Given the description of an element on the screen output the (x, y) to click on. 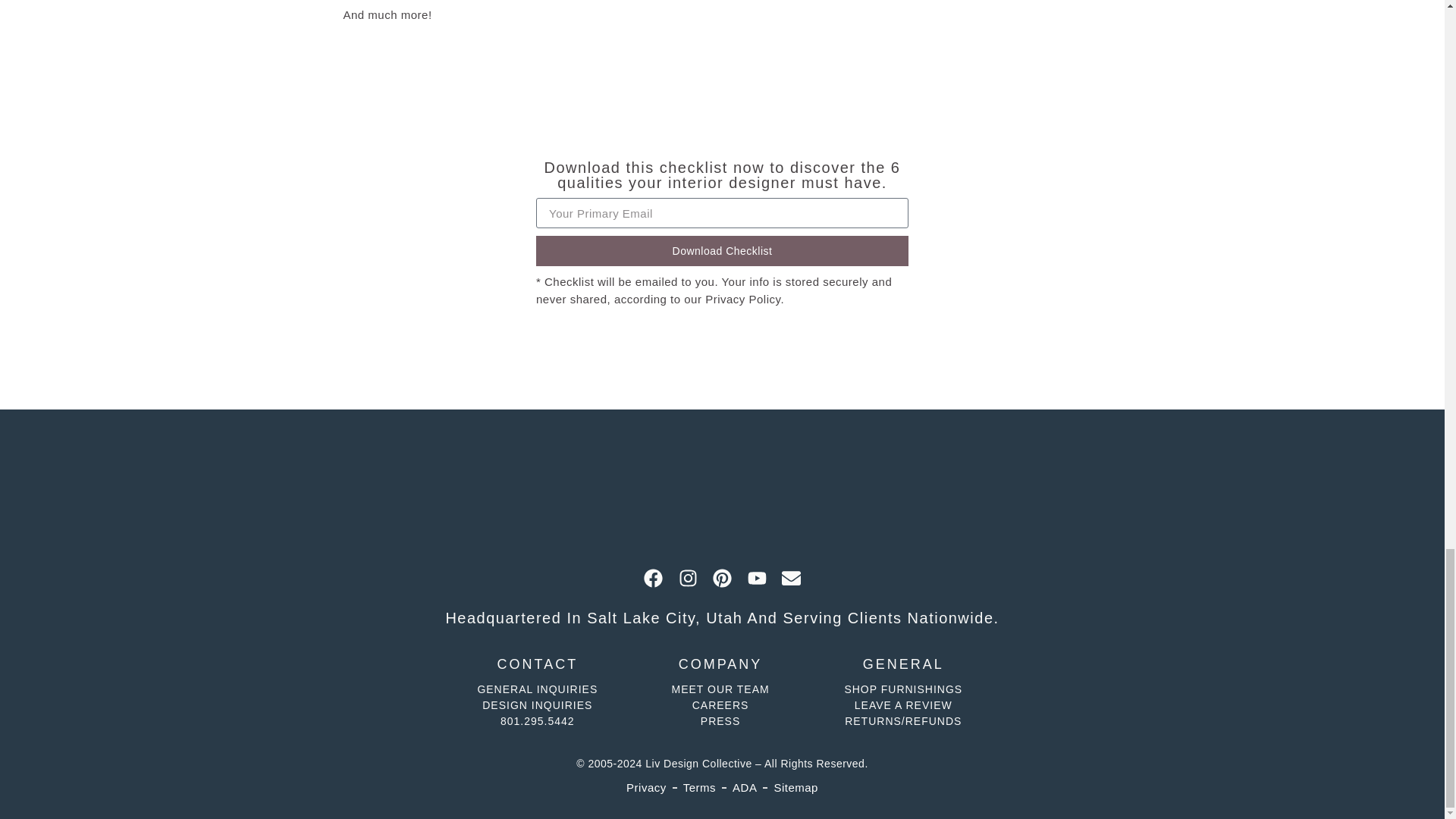
Liv Logo Options (721, 489)
